Given the description of an element on the screen output the (x, y) to click on. 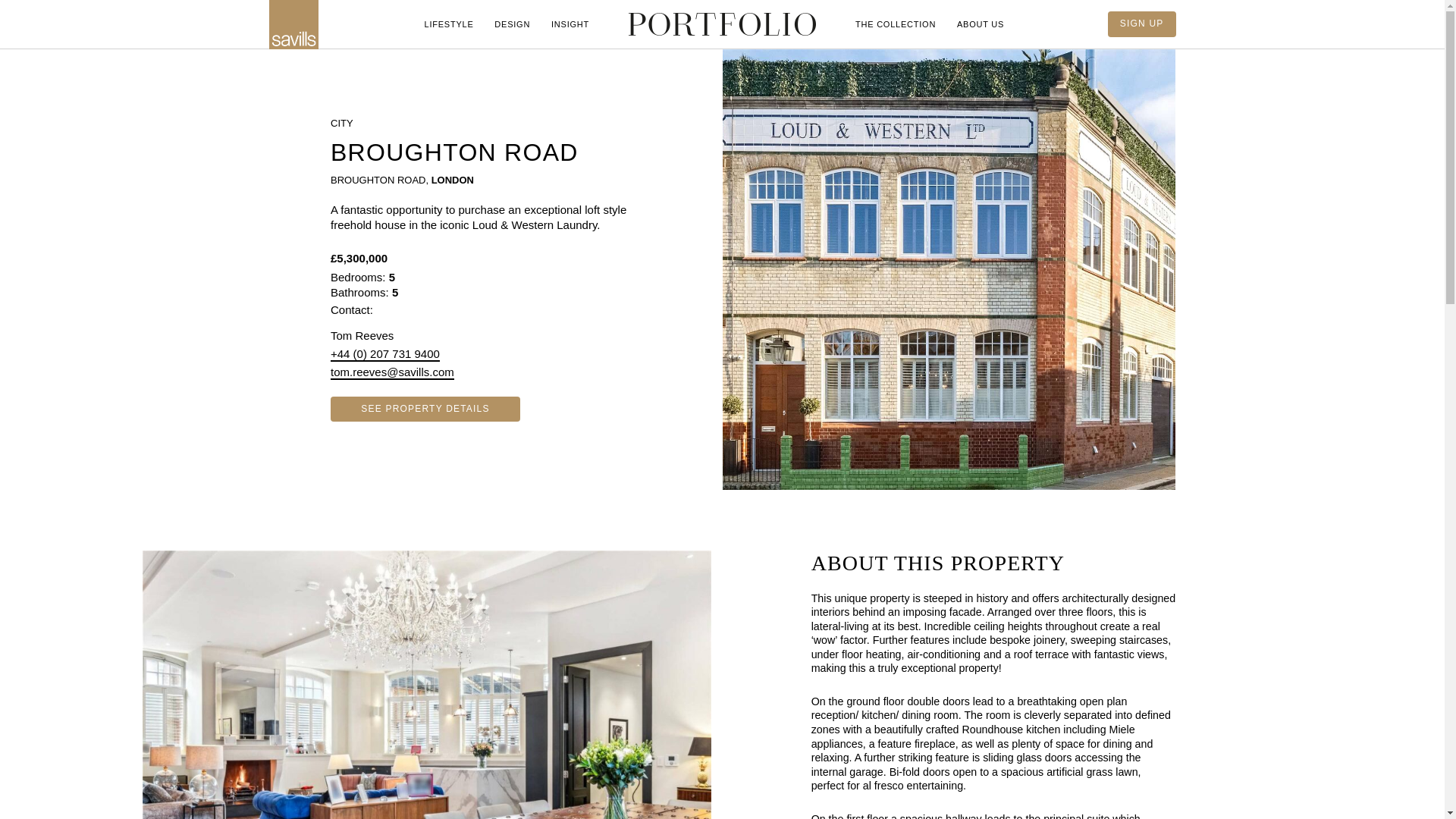
SEE PROPERTY DETAILS (424, 409)
DESIGN (511, 24)
THE COLLECTION (895, 24)
INSIGHT (569, 24)
LIFESTYLE (448, 24)
ABOUT US (980, 24)
SIGN UP (1142, 23)
